Given the description of an element on the screen output the (x, y) to click on. 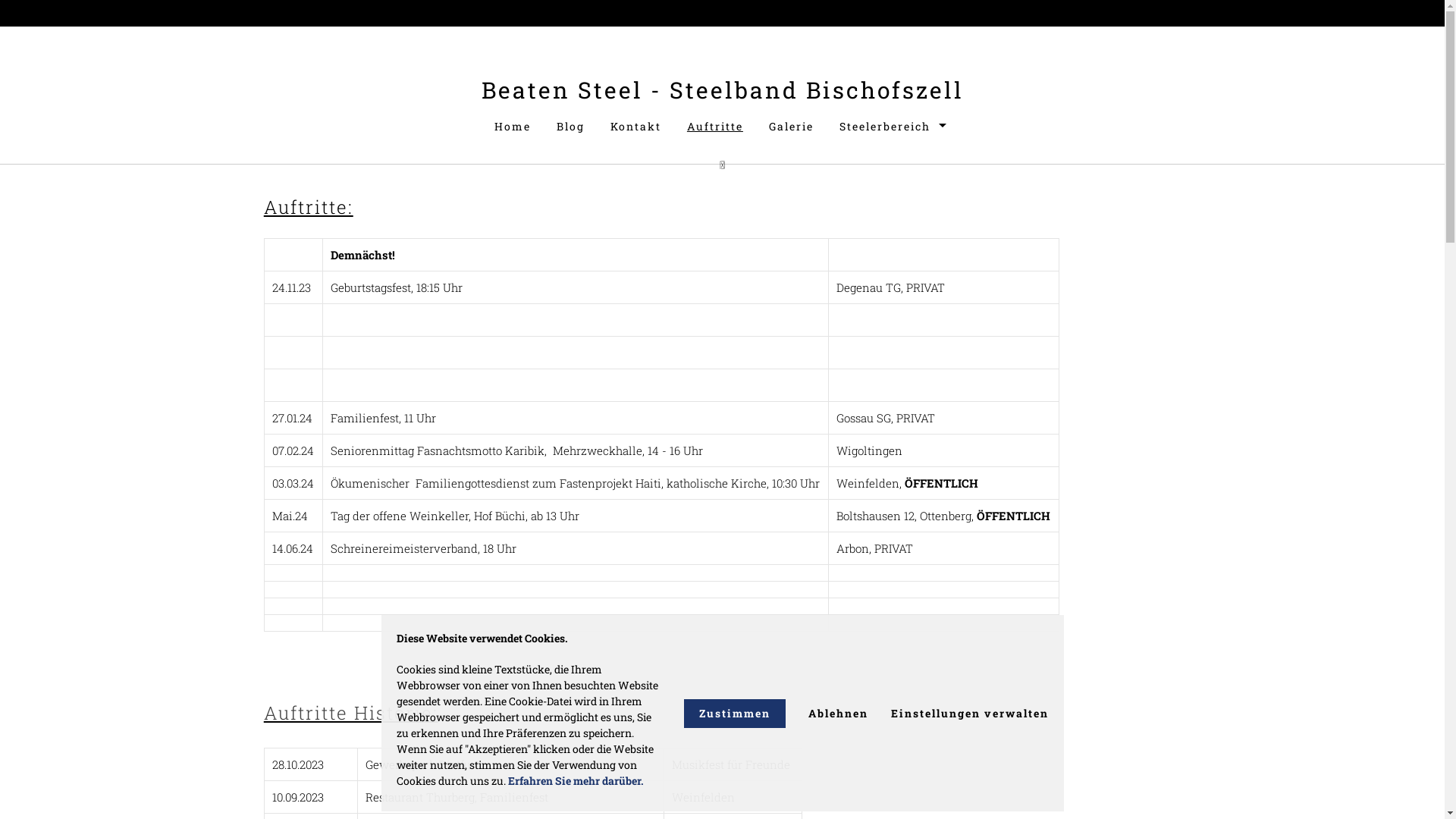
Ablehnen Element type: text (838, 713)
Blog Element type: text (570, 126)
Home Element type: text (512, 126)
Kontakt Element type: text (635, 126)
Galerie Element type: text (791, 126)
Beaten Steel - Steelband Bischofszell Element type: text (721, 89)
Einstellungen verwalten Element type: text (969, 713)
Zustimmen Element type: text (734, 713)
Auftritte Element type: text (714, 126)
